Given the description of an element on the screen output the (x, y) to click on. 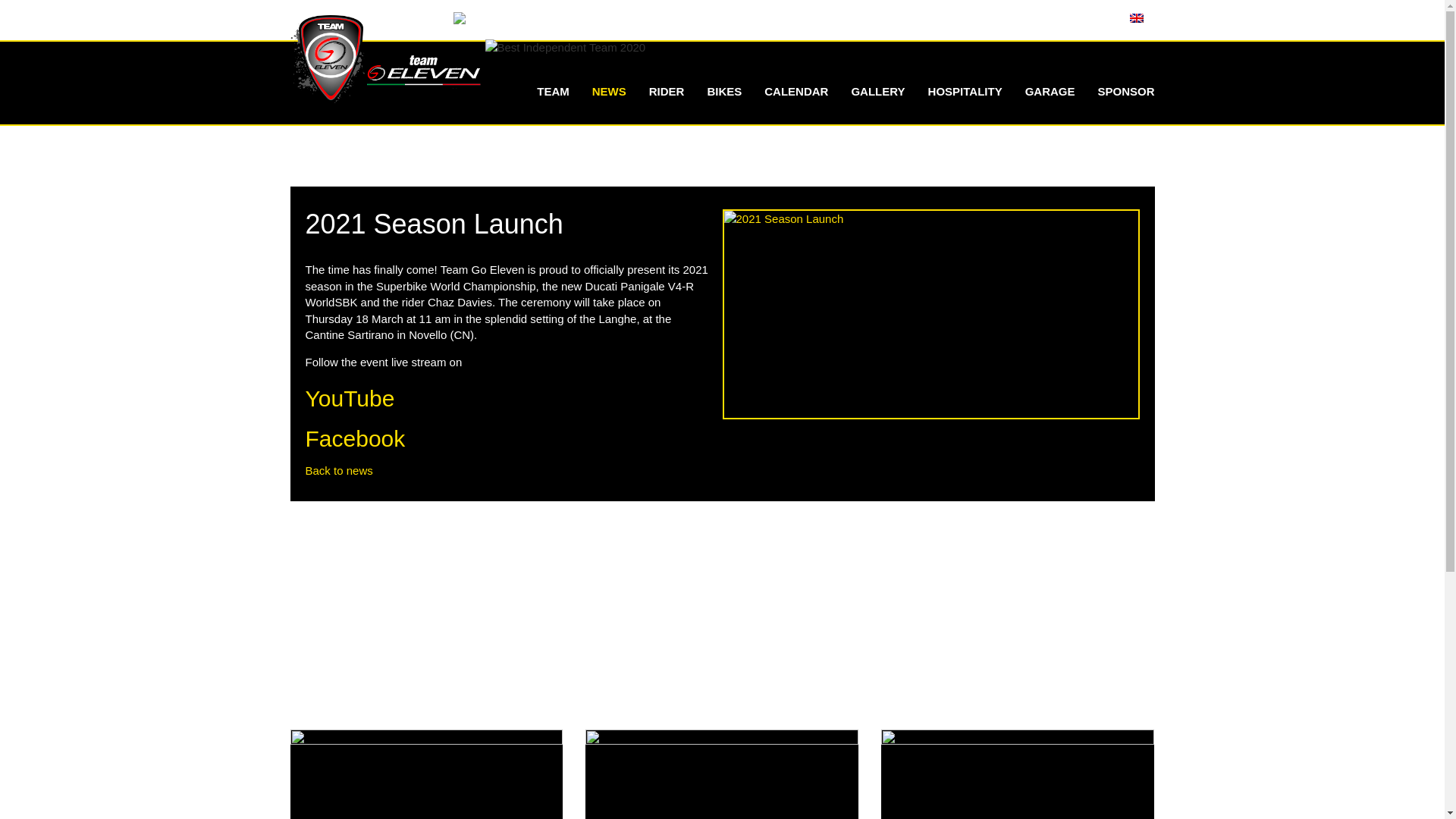
Garage (1049, 91)
CALENDAR (796, 91)
RIDER (666, 91)
SHOP (932, 18)
Shop (932, 18)
Facebook (354, 438)
Sponsor (1126, 91)
HOSPITALITY (965, 91)
 LANGUAGE:  (1104, 18)
Rider (666, 91)
